Given the description of an element on the screen output the (x, y) to click on. 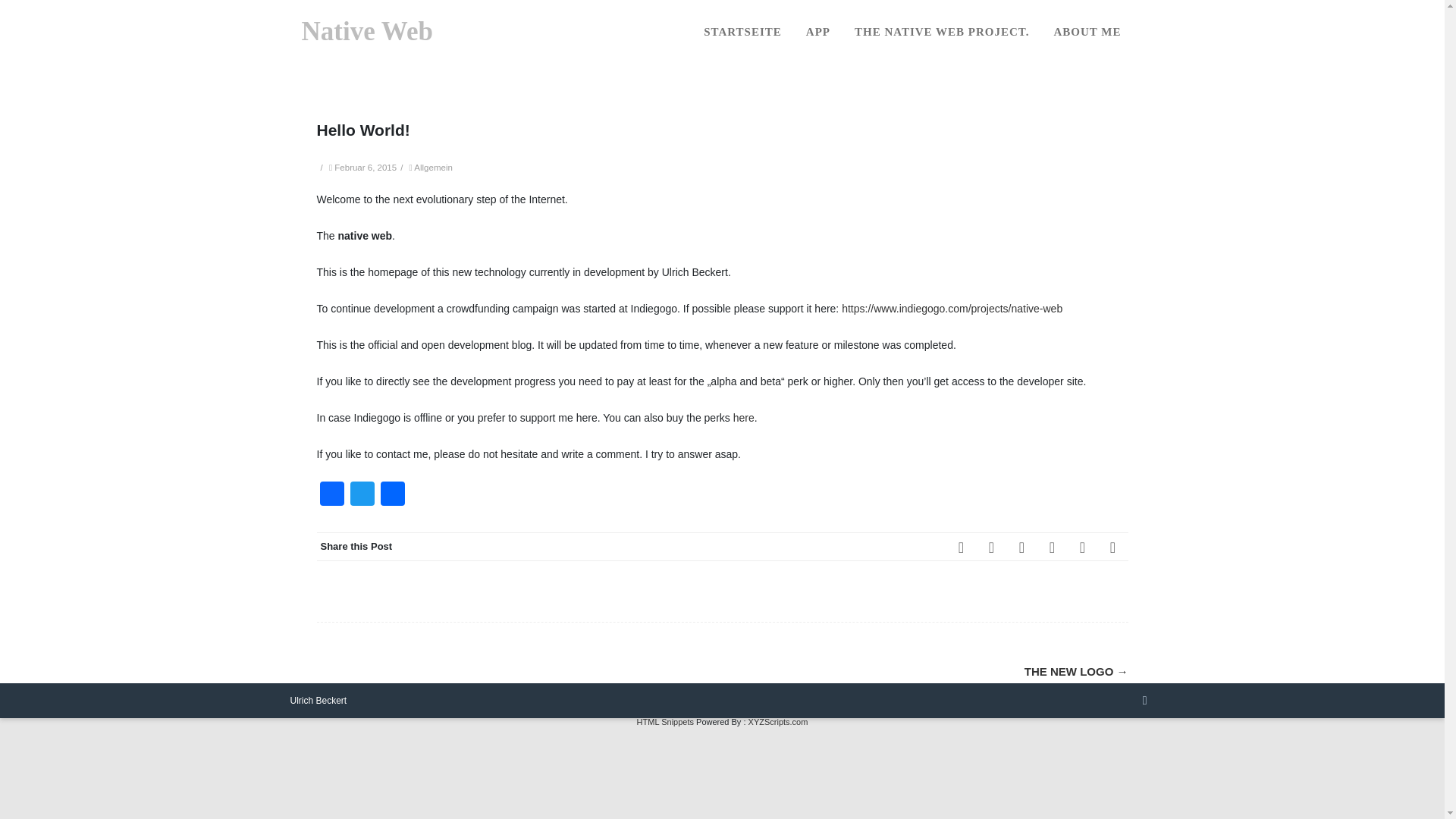
Twitter (362, 495)
APP (817, 31)
ABOUT ME (1087, 31)
LinkedIn (1051, 546)
Facebook (961, 546)
Support the Native Web project. (743, 417)
RSS (1082, 546)
here (743, 417)
Facebook (332, 495)
Allgemein (432, 166)
Email (1112, 546)
STARTSEITE (743, 31)
Teilen (392, 495)
Pinterest (1021, 546)
Twitter (991, 546)
